Given the description of an element on the screen output the (x, y) to click on. 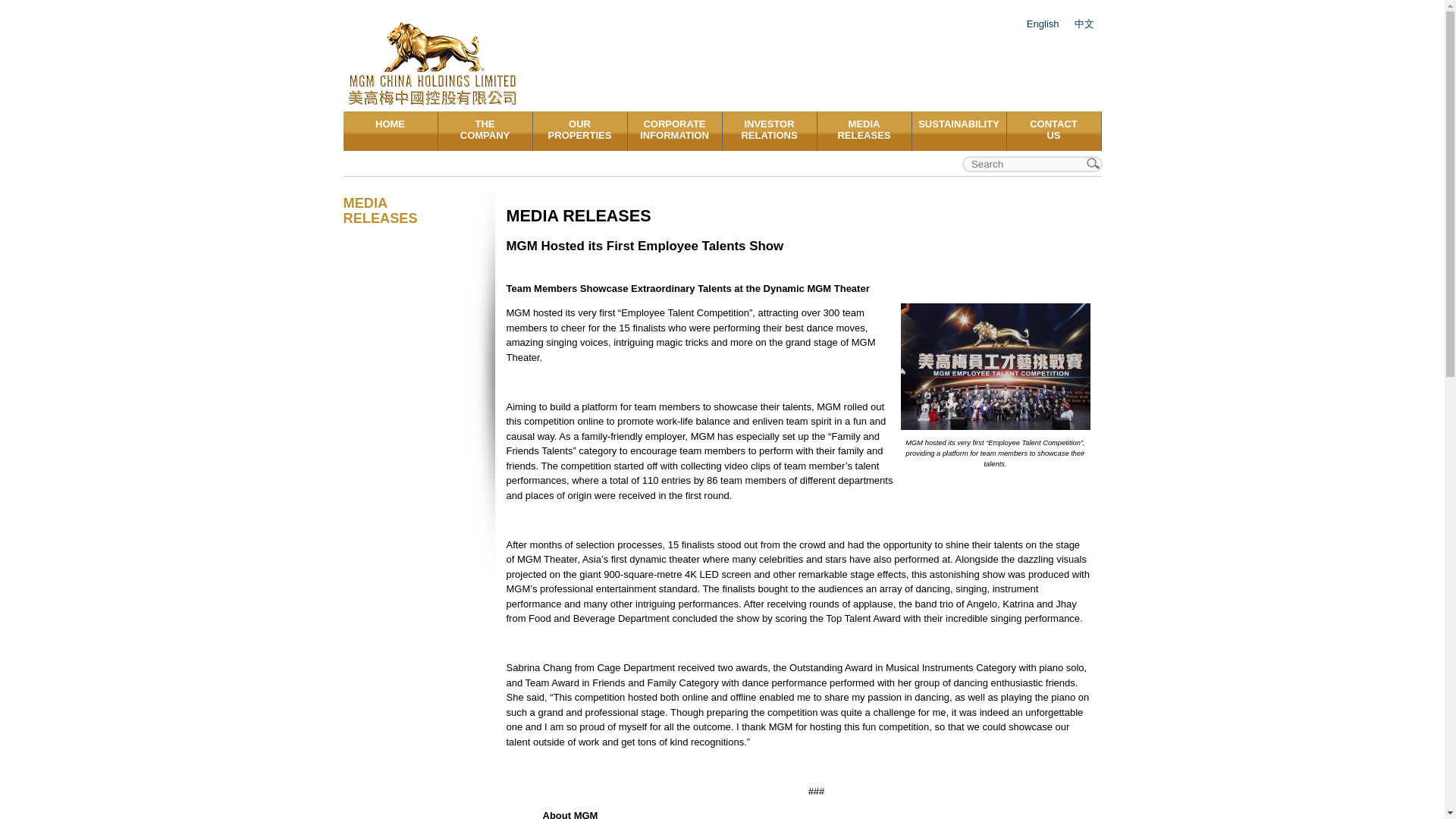
CORPORATE INFORMATION (674, 129)
HOME (579, 129)
Logo (485, 129)
